Given the description of an element on the screen output the (x, y) to click on. 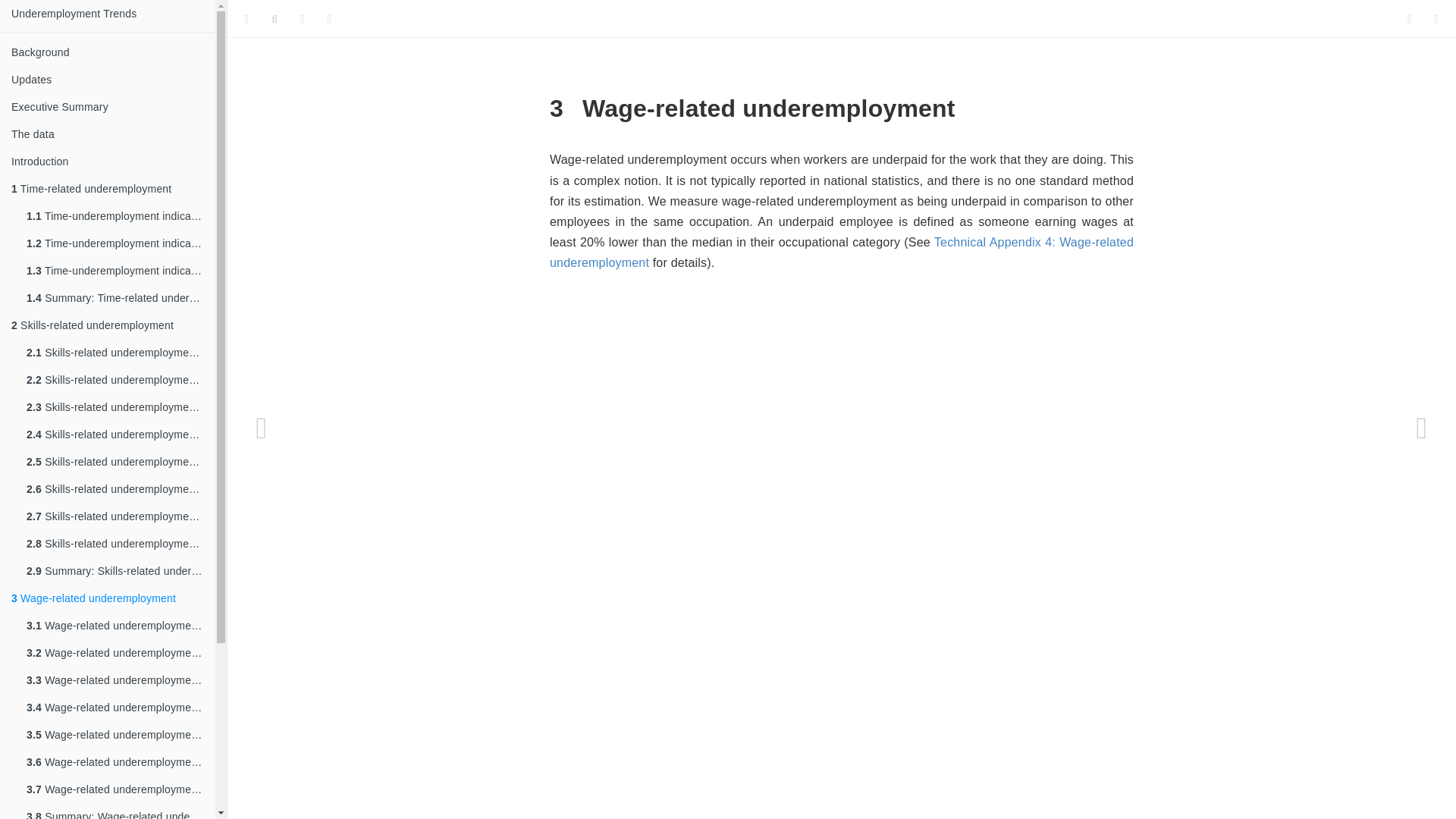
2.1 Skills-related underemployment by sex (114, 352)
2.5 Skills-related underemployment by occupational group (114, 461)
2.3 Skills-related underemployment by ethnic group (114, 406)
1 Time-related underemployment (107, 188)
2 Skills-related underemployment (107, 325)
2.2 Skills-related underemployment by age group (114, 379)
3.6 Wage-related underemployment by region (114, 761)
2.4 Skills-related underemployment by qualification level (114, 433)
Introduction (107, 161)
2.1 Skills-related underemployment by sex (114, 352)
2.3 Skills-related underemployment by ethnic group (114, 406)
3.3 Wage-related underemployment by ethnic group (114, 679)
1.4 Summary: Time-related underemployment (114, 298)
1.2 Time-underemployment indicator 2: Wanting longer hours (114, 243)
